Given the description of an element on the screen output the (x, y) to click on. 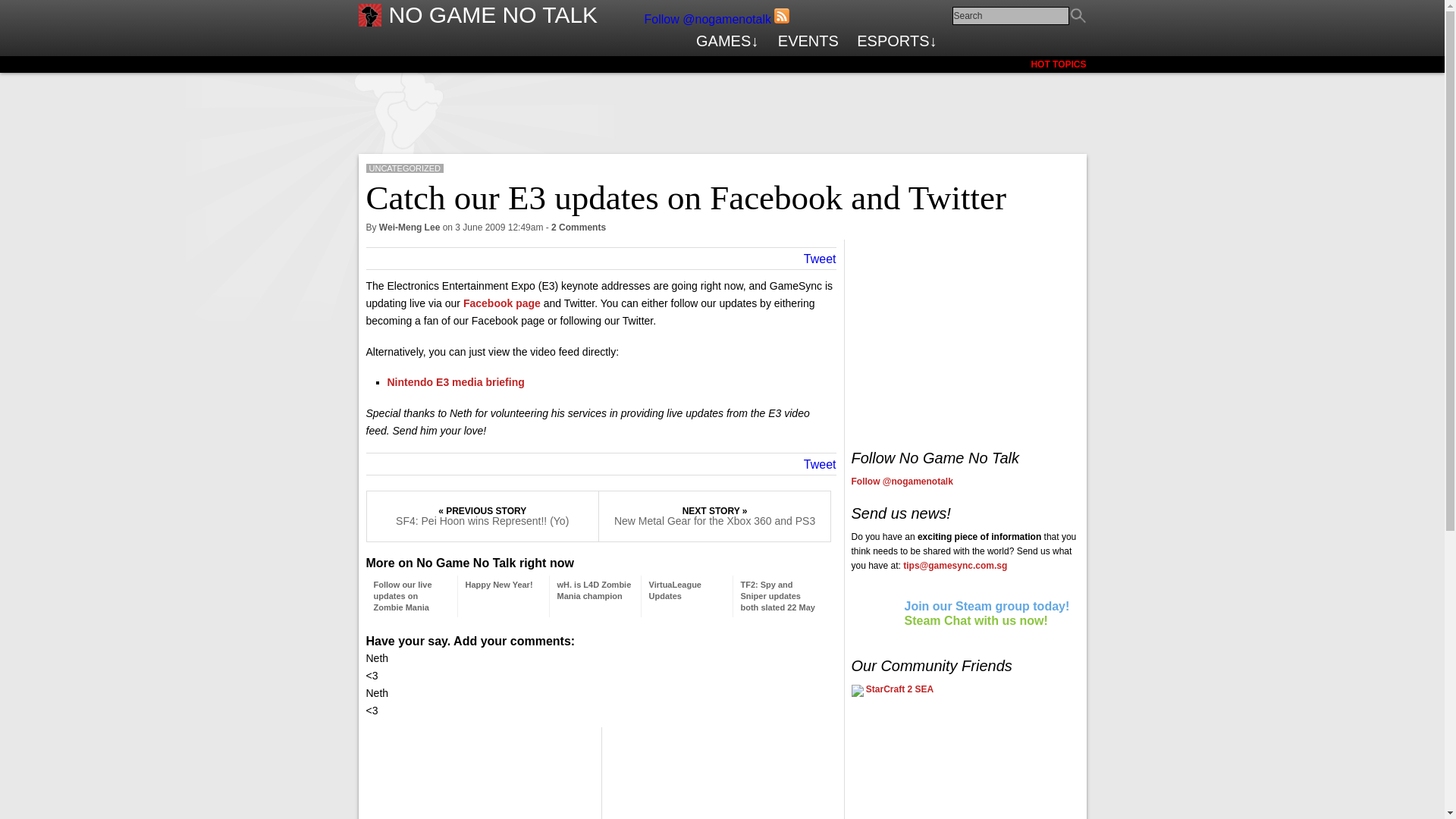
Advertisement (721, 98)
NO GAME NO TALK (492, 14)
Happy New Year! (498, 583)
Advertisement (911, 765)
Posts by Wei-Meng Lee (408, 226)
Join our Steam group today! (986, 605)
wH. is L4D Zombie Mania champion (593, 589)
Advertisement (964, 334)
Happy New Year! (498, 583)
Steam Chat with us now! (975, 620)
